Given the description of an element on the screen output the (x, y) to click on. 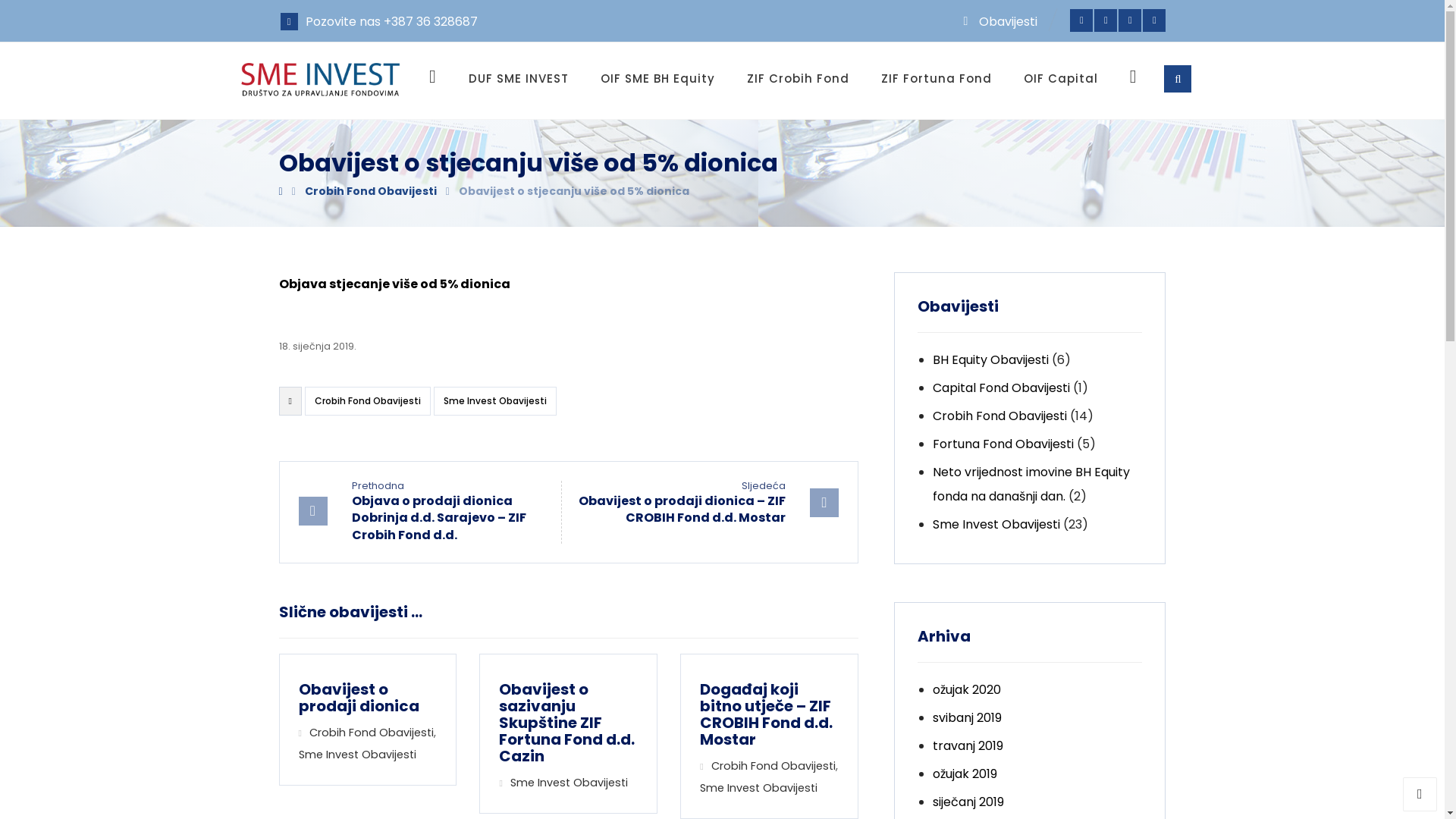
OIF Capital Element type: text (1060, 78)
Twitter Element type: hover (1105, 20)
svibanj 2019 Element type: text (966, 717)
Linkedin Element type: hover (1129, 20)
OIF SME BH Equity Element type: text (657, 78)
Crobih Fond Obavijesti Element type: text (371, 732)
Sme Invest Obavijesti Element type: text (357, 754)
Sme Invest Obavijesti Element type: text (758, 787)
Crobih Fond Obavijesti Element type: text (999, 415)
Sme Invest Obavijesti Element type: text (494, 400)
ZIF Crobih Fond Element type: text (797, 78)
BH Equity Obavijesti Element type: text (990, 359)
ZIF Fortuna Fond Element type: text (936, 78)
Facebook Element type: hover (1081, 20)
Obavijesti Element type: text (998, 19)
Crobih Fond Obavijesti Element type: text (773, 765)
Skype Element type: hover (1153, 20)
Fortuna Fond Obavijesti Element type: text (1002, 443)
travanj 2019 Element type: text (967, 745)
Crobih Fond Obavijesti Element type: text (367, 400)
Sme Invest Obavijesti Element type: text (568, 782)
Sme Invest Obavijesti Element type: text (996, 524)
DUF SME INVEST Element type: text (518, 78)
Pozovite nas +387 36 328687 Element type: text (378, 19)
Obavijest o prodaji dionica Element type: text (367, 697)
Capital Fond Obavijesti Element type: text (1001, 387)
Crobih Fond Obavijesti Element type: text (370, 190)
